Given the description of an element on the screen output the (x, y) to click on. 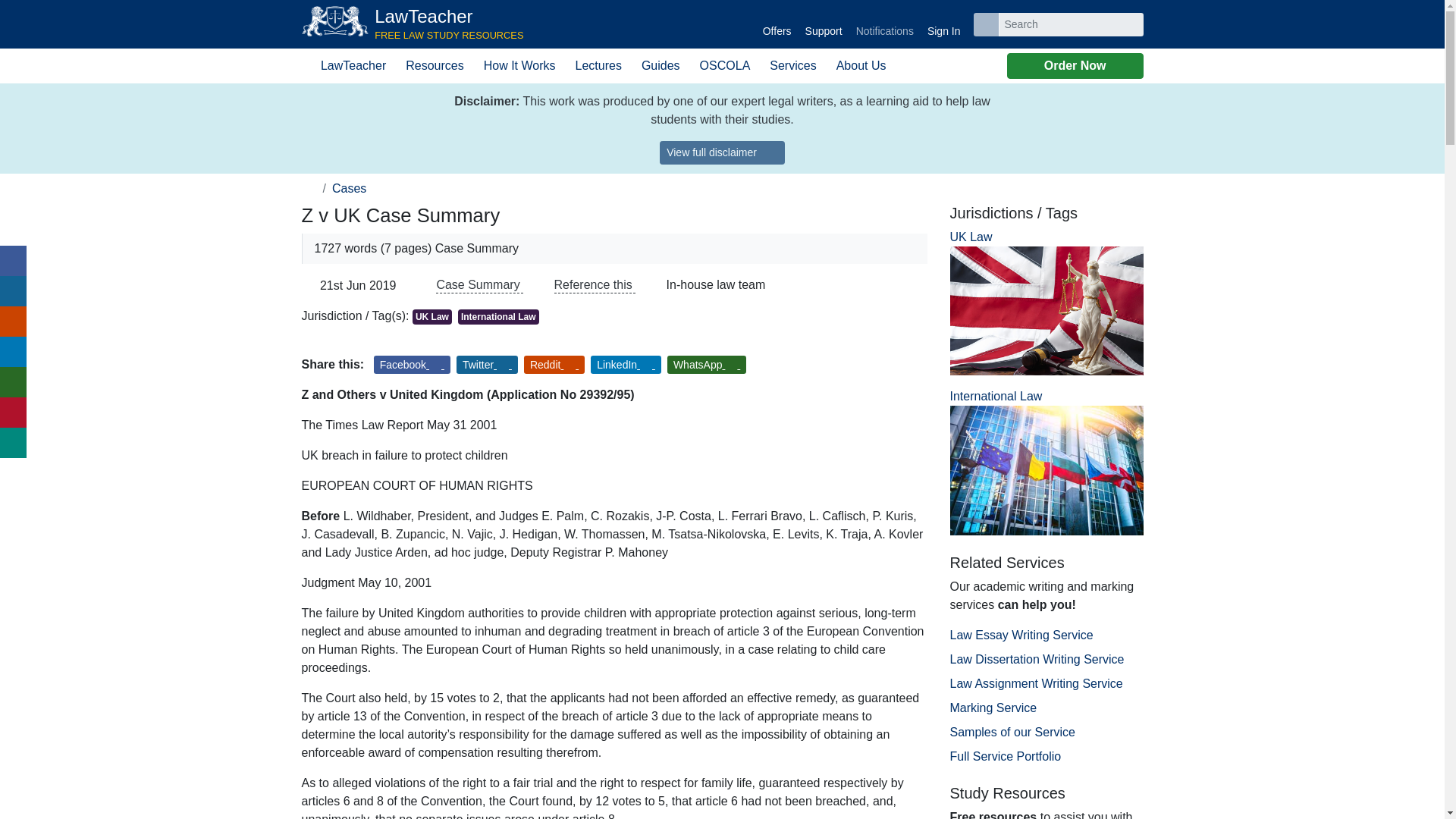
Sign In (944, 23)
homepage link (309, 187)
Notifications (884, 23)
View full disclaimer (412, 23)
Support (721, 152)
Go to the LawTeacher homepage (822, 23)
Offers (412, 23)
